Given the description of an element on the screen output the (x, y) to click on. 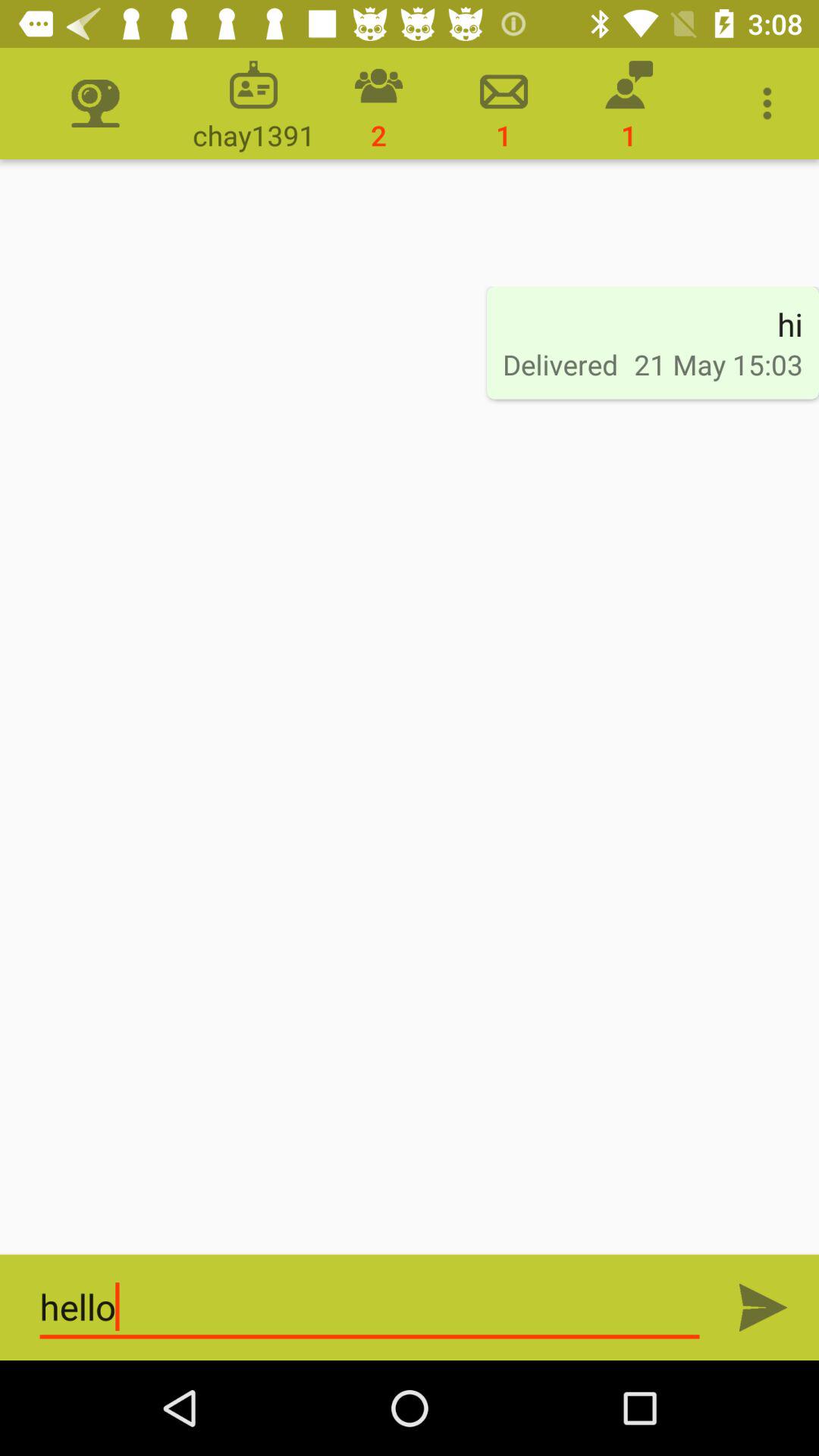
submit button (763, 1307)
